Given the description of an element on the screen output the (x, y) to click on. 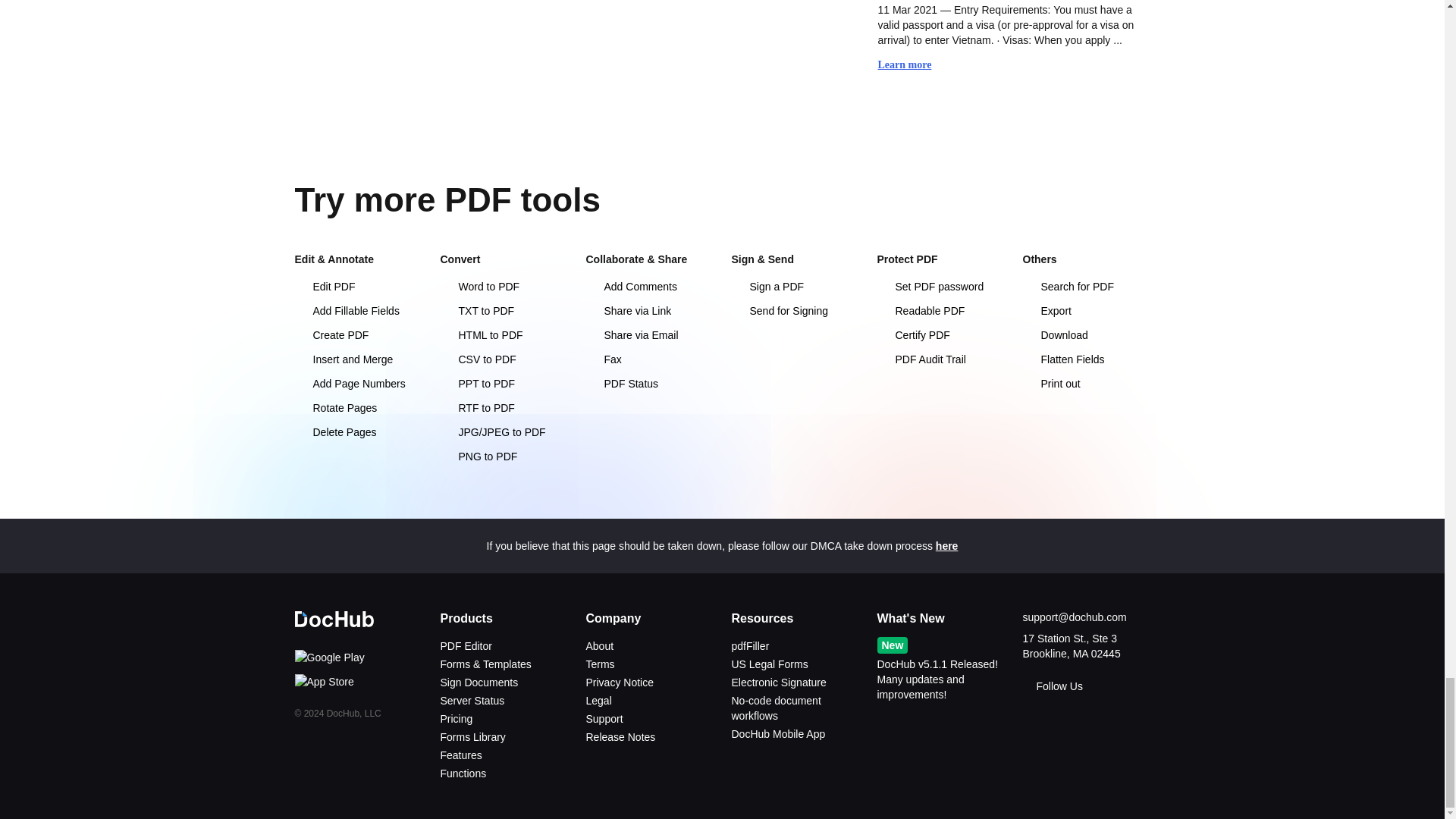
Add Page Numbers (358, 383)
Rotate Pages (358, 407)
Create PDF (358, 335)
Learn more (910, 64)
Add Fillable Fields (358, 310)
Edit PDF (358, 286)
Insert and Merge (358, 359)
